Given the description of an element on the screen output the (x, y) to click on. 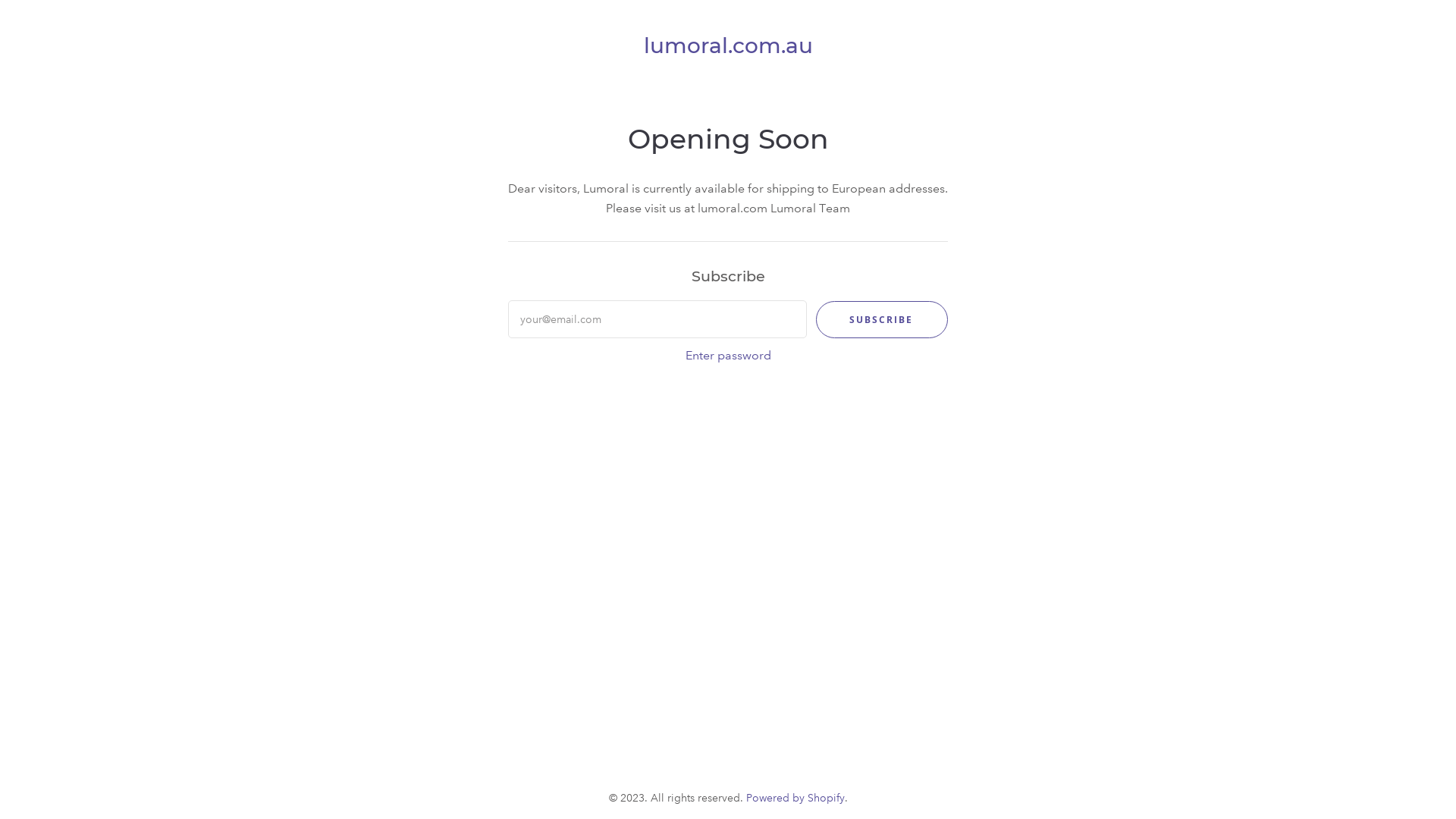
Subscribe Element type: text (881, 319)
Powered by Shopify Element type: text (795, 797)
lumoral.com.au Element type: text (727, 48)
Enter password Element type: text (727, 355)
